Given the description of an element on the screen output the (x, y) to click on. 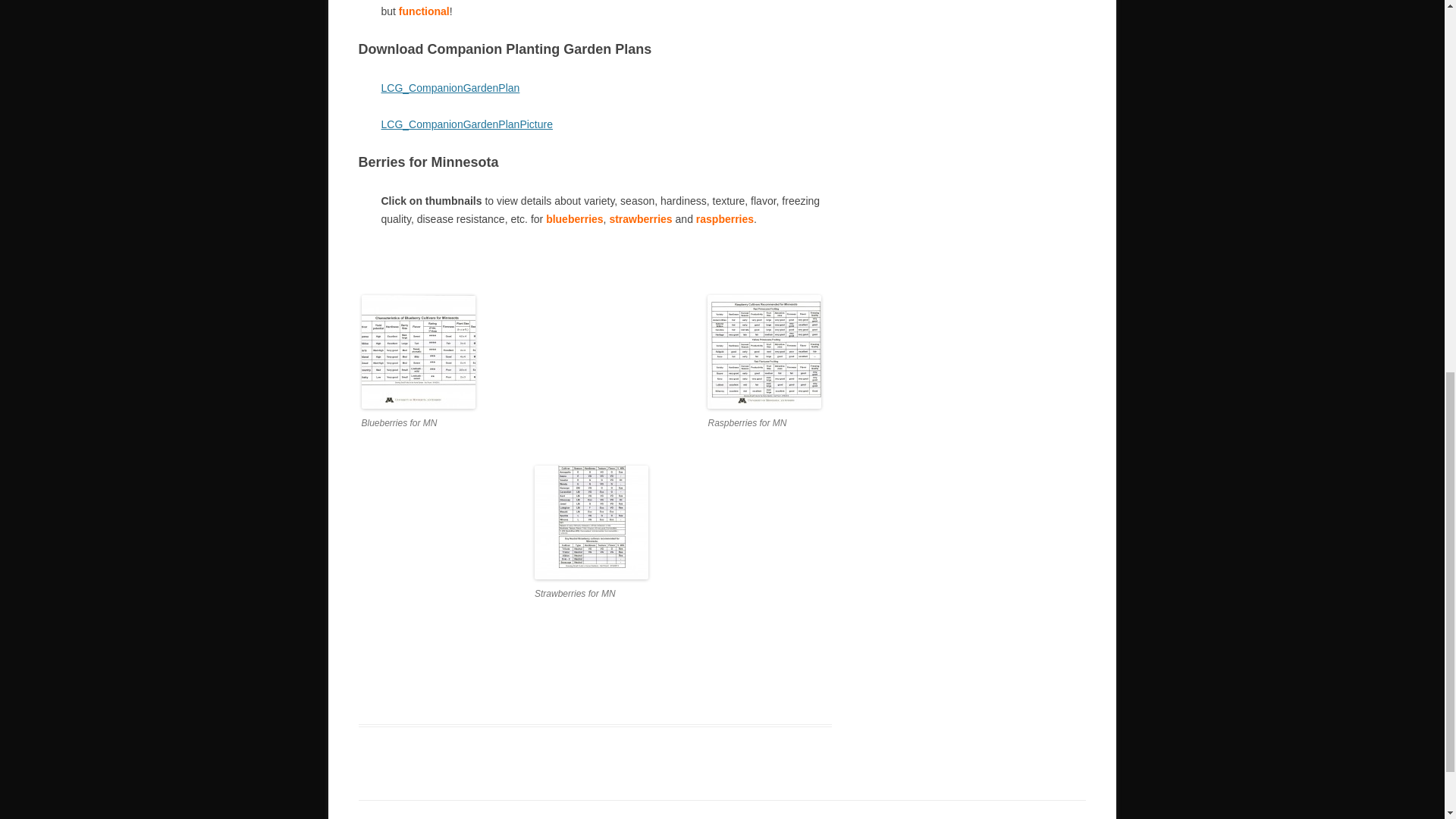
Strawberries for MN (590, 522)
Raspberries for MN (764, 351)
MN berries 1 (417, 351)
